Given the description of an element on the screen output the (x, y) to click on. 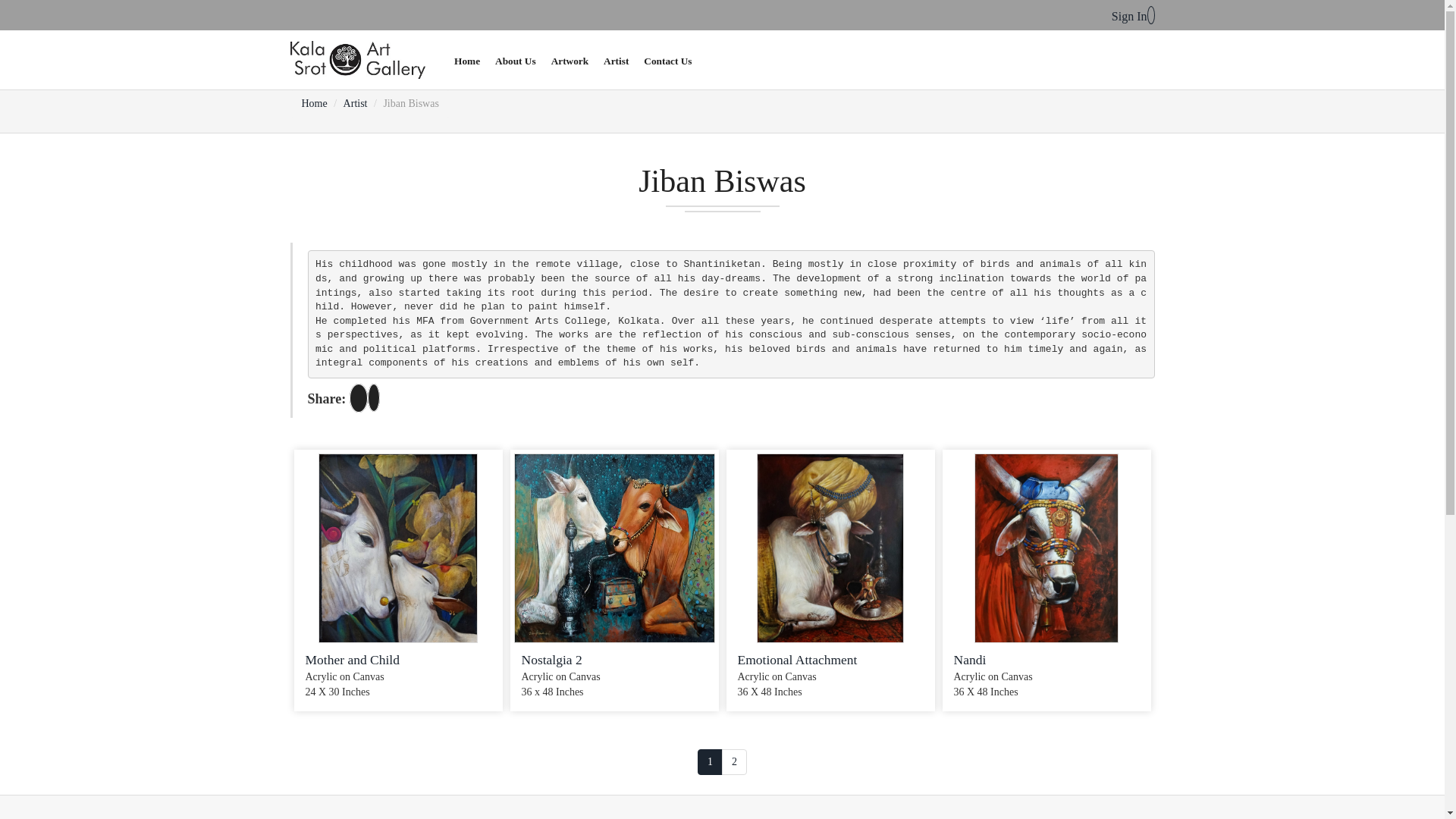
Artist (615, 60)
About Us (515, 60)
Home (314, 102)
Home (466, 60)
Contact Us (667, 60)
Emotional Attachment (796, 659)
Sign In (1133, 15)
Mother and Child (351, 659)
Artist (355, 102)
Nostalgia 2 (551, 659)
Artwork (569, 60)
